Given the description of an element on the screen output the (x, y) to click on. 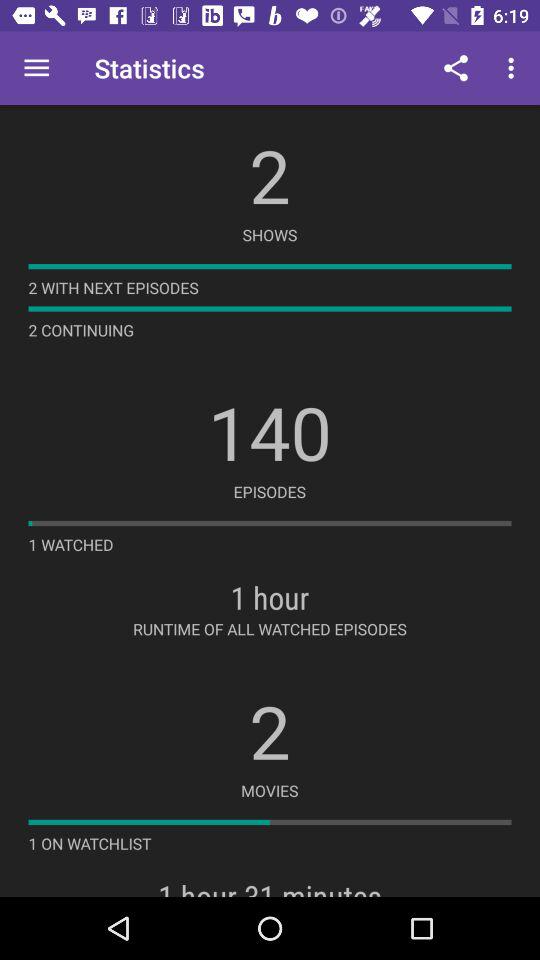
turn off icon to the left of the statistics (36, 68)
